Given the description of an element on the screen output the (x, y) to click on. 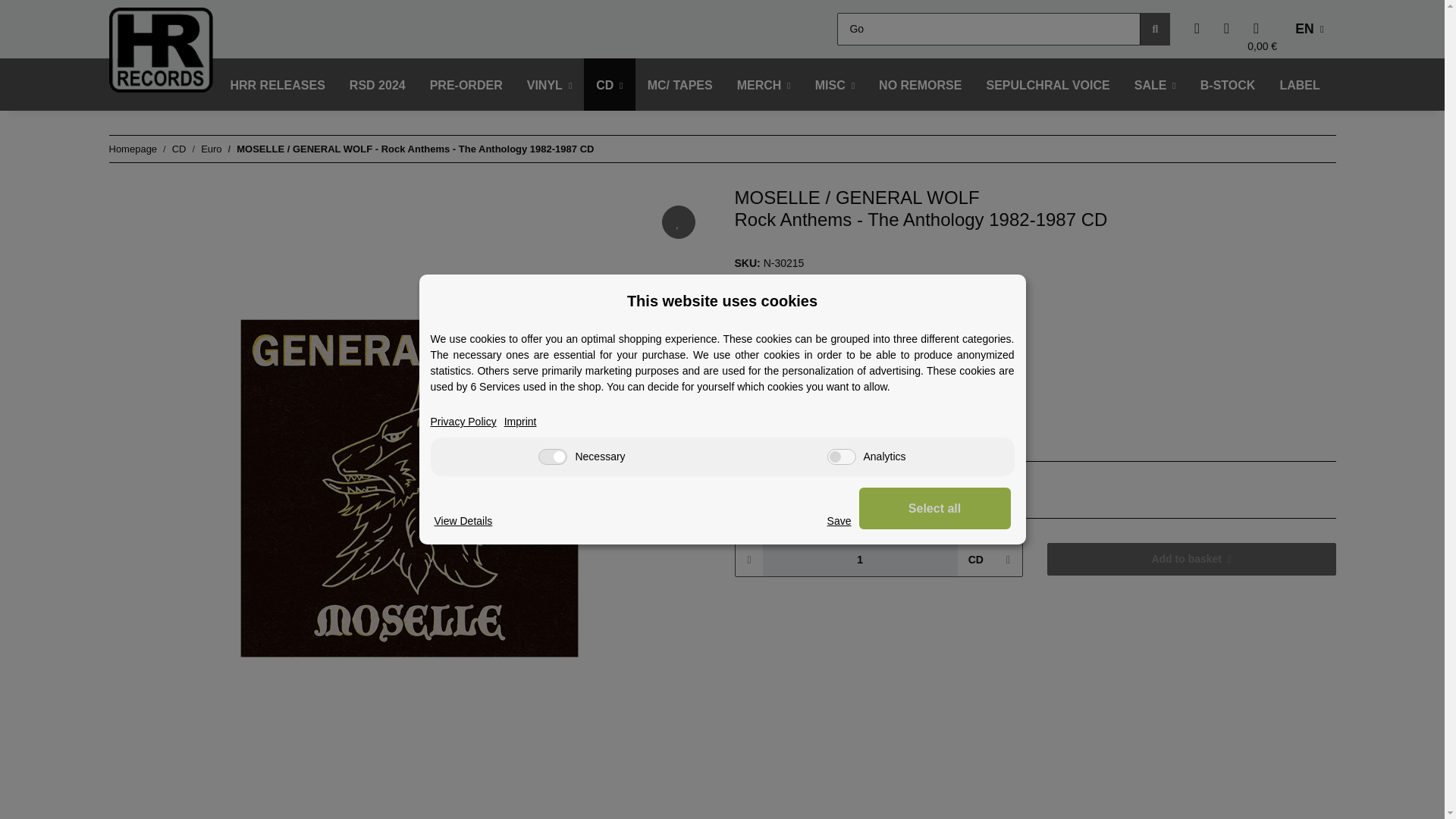
PRE-ORDER (466, 85)
NO REMORSE (920, 85)
EN (1308, 28)
RSD 2024 (377, 85)
RSD 2024 (377, 85)
on (552, 456)
PRE-ORDER (466, 85)
High Roller Records - OnlineShop (160, 49)
SALE (1155, 85)
VINYL (550, 85)
RSD 2024 (377, 85)
B-STOCK (1228, 85)
HRR RELEASES (277, 85)
LABEL (1299, 85)
VINYL (550, 85)
